Given the description of an element on the screen output the (x, y) to click on. 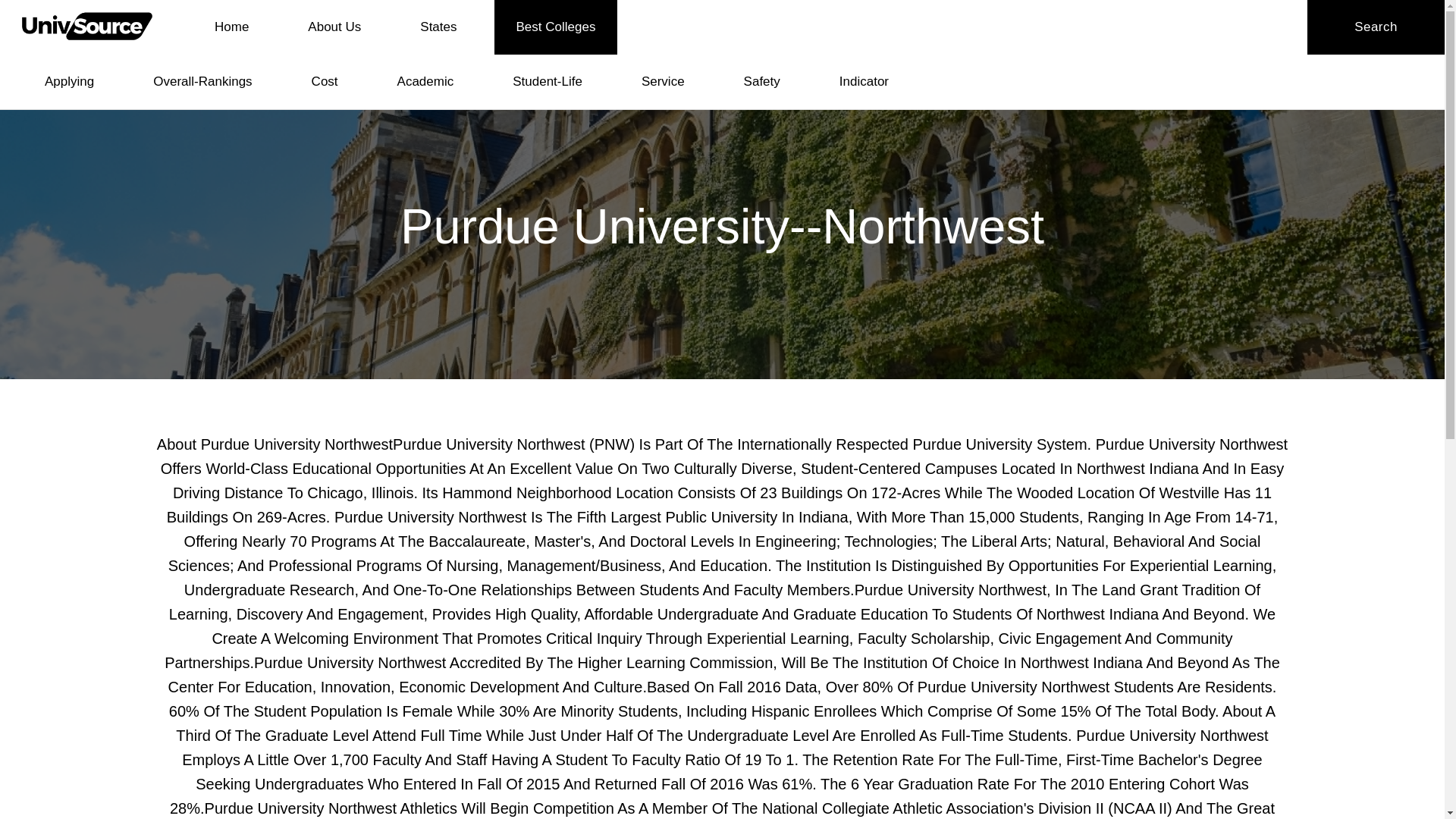
Applying (69, 81)
Indicator (863, 81)
About Us (333, 27)
Student-Life (547, 81)
States (438, 27)
Academic (425, 81)
Home (231, 27)
Safety (762, 81)
Best Colleges (556, 27)
Overall-Rankings (202, 81)
